Given the description of an element on the screen output the (x, y) to click on. 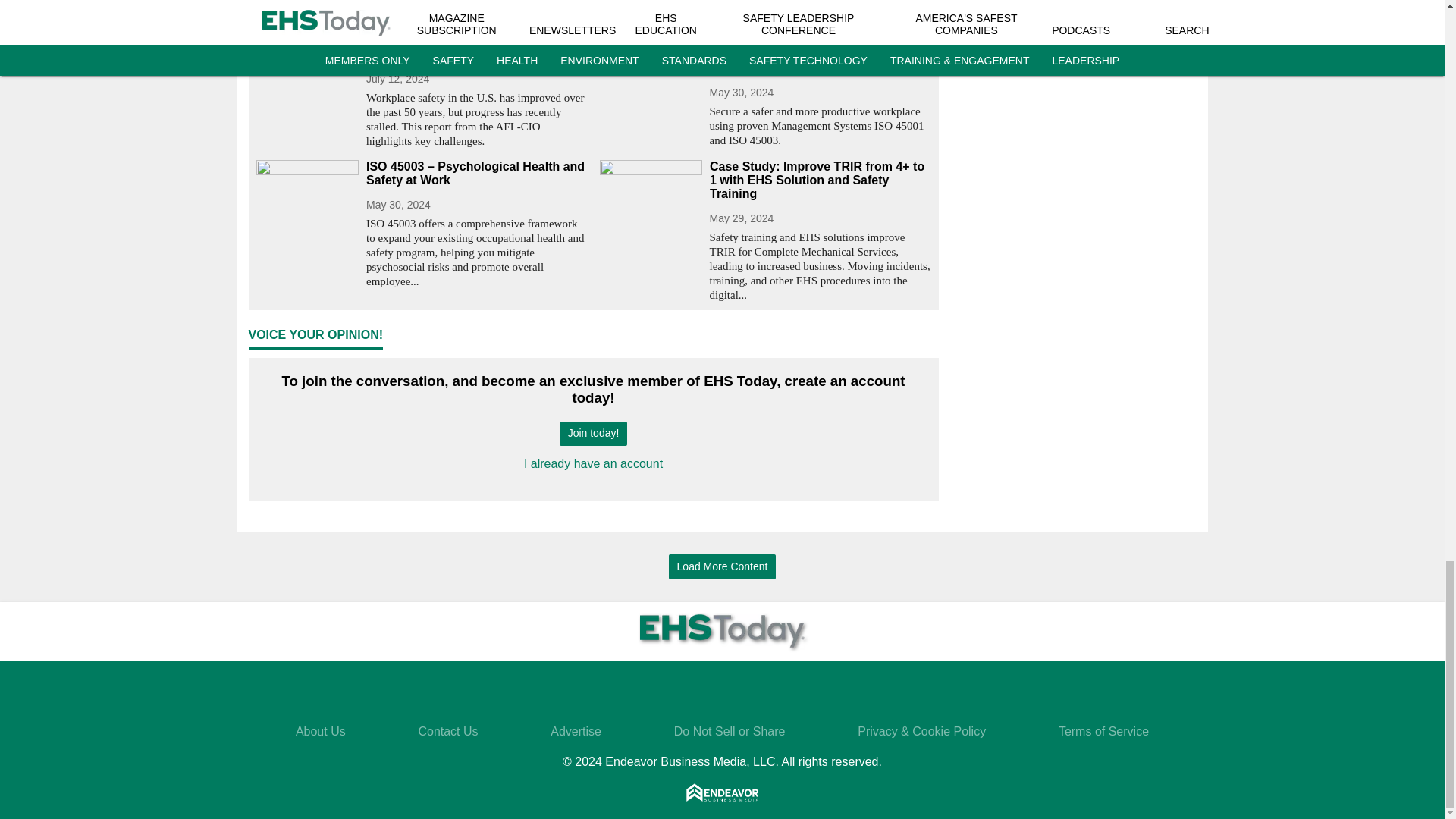
I already have an account (593, 463)
Join today! (593, 433)
10 Facts About the State of Workplace Safety in the U.S. (476, 47)
